Given the description of an element on the screen output the (x, y) to click on. 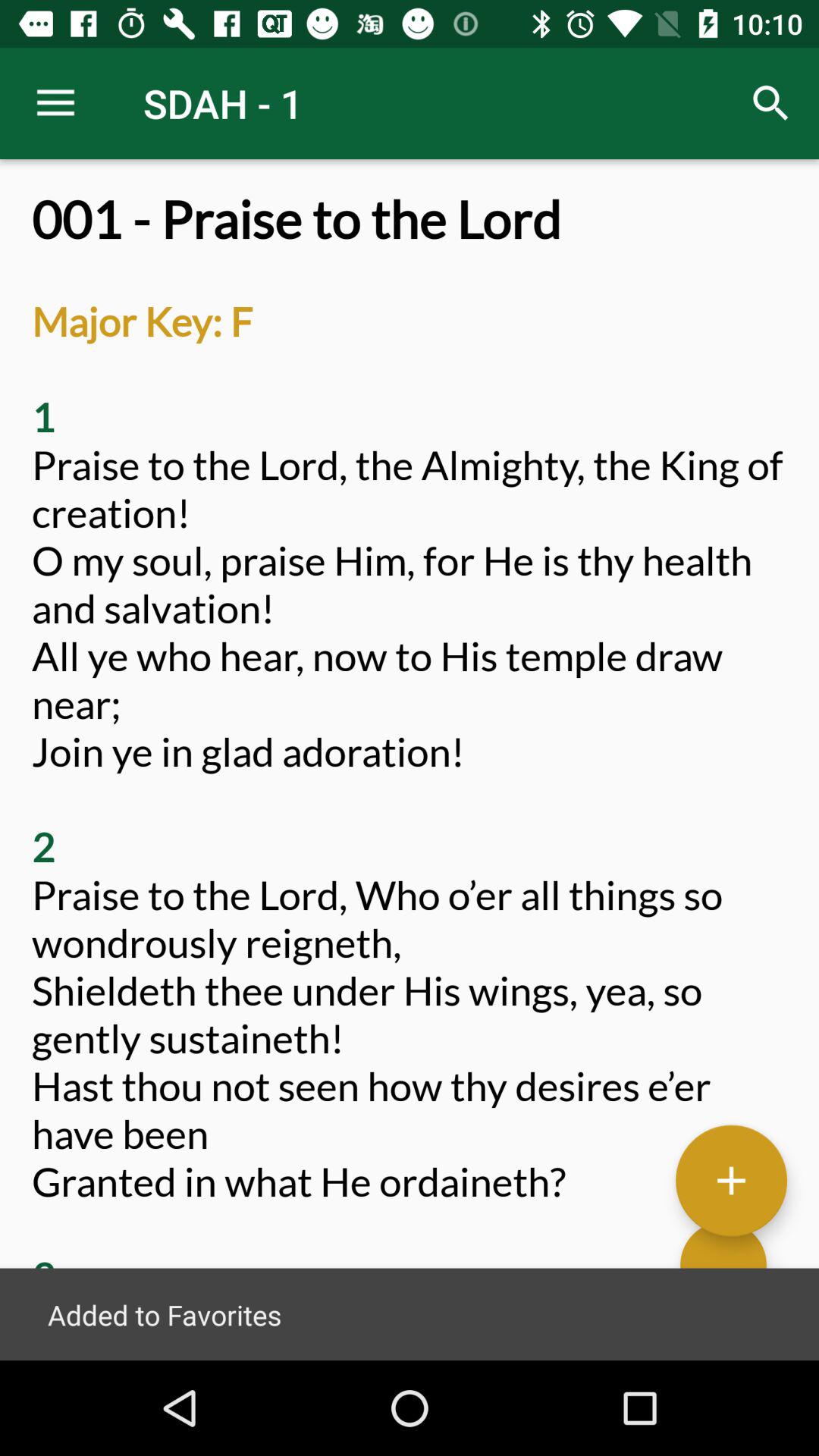
add to favorites (731, 1179)
